Given the description of an element on the screen output the (x, y) to click on. 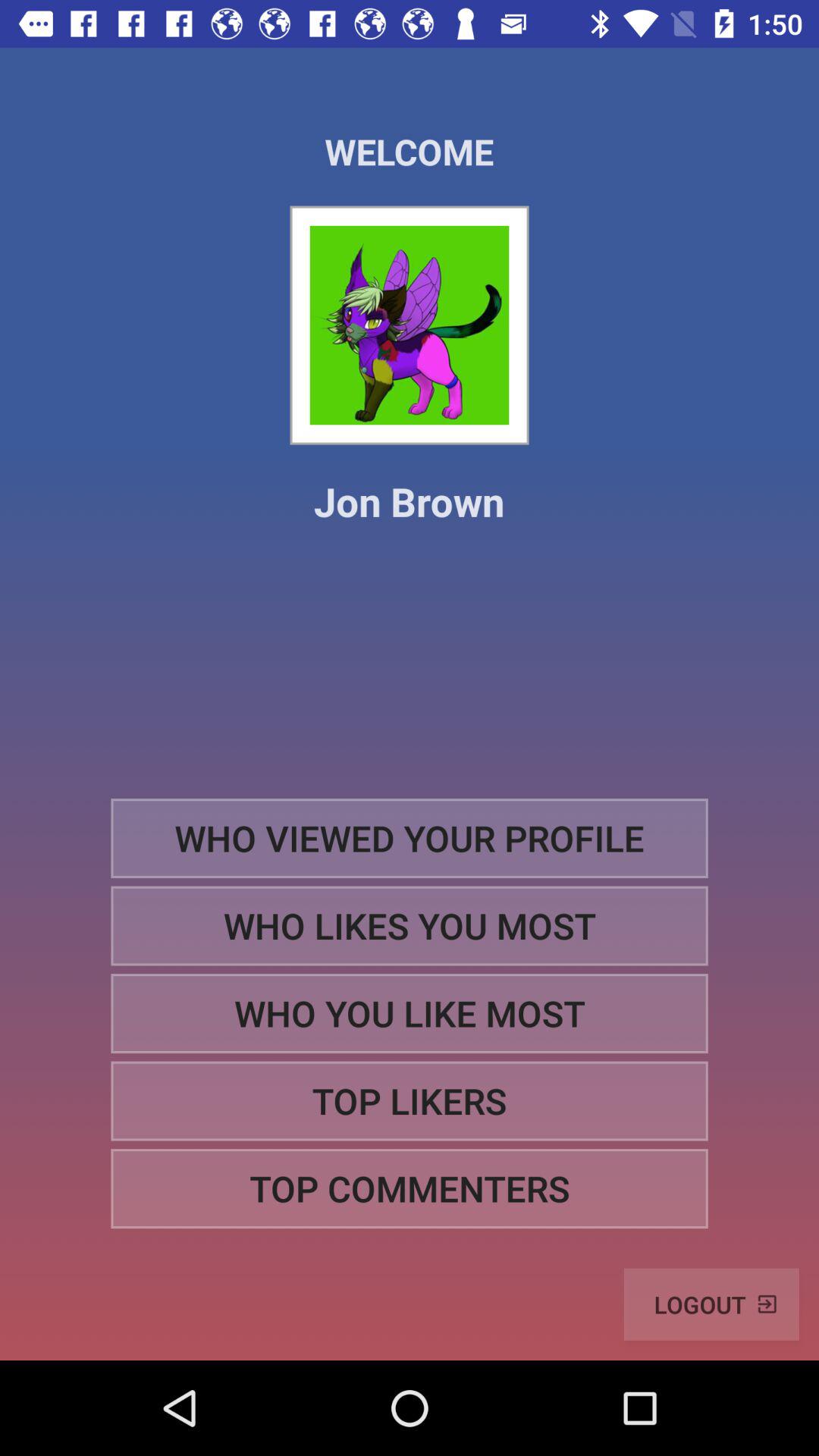
jump until the top likers item (409, 1100)
